Given the description of an element on the screen output the (x, y) to click on. 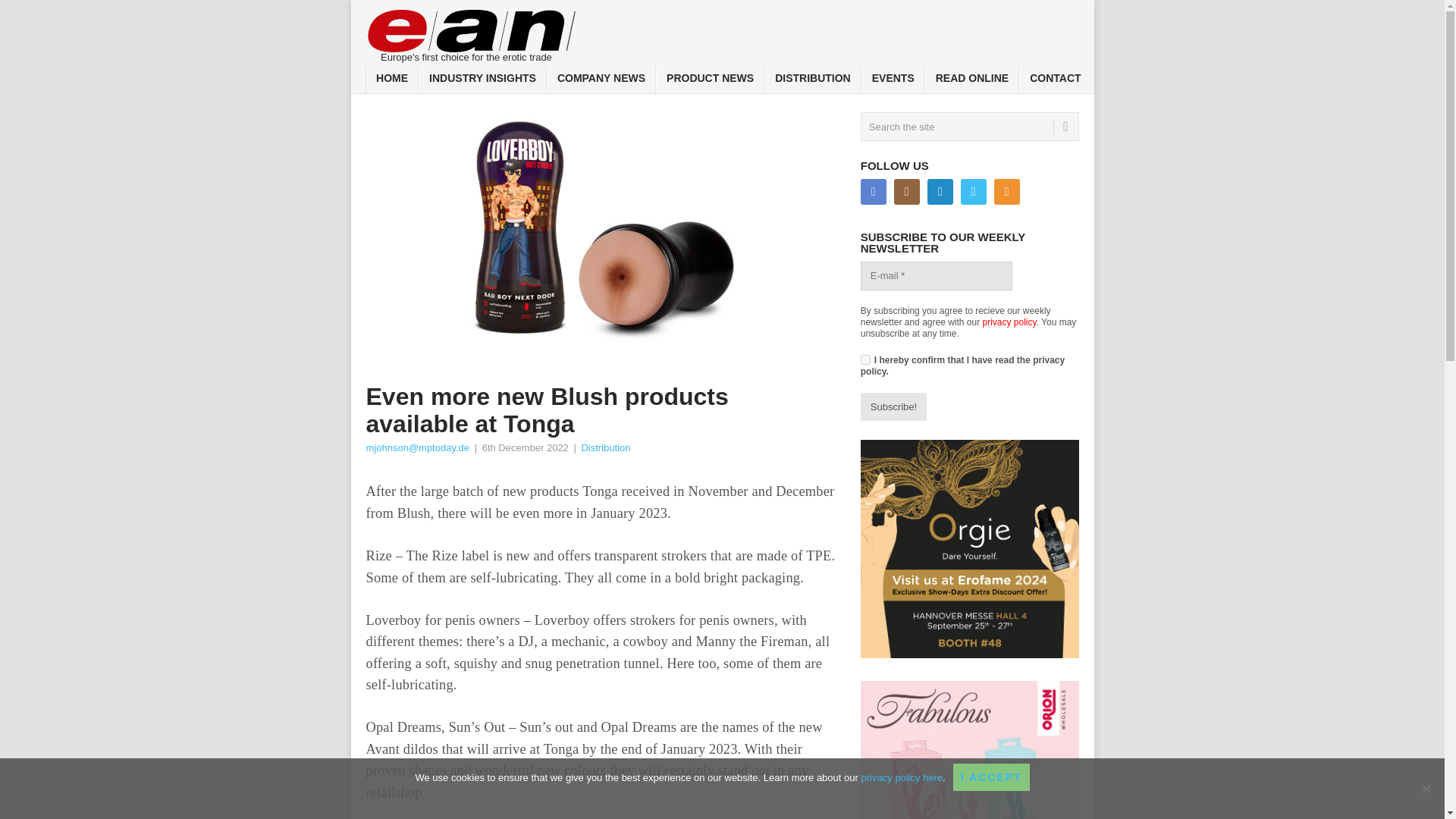
COMPANY NEWS (601, 80)
DISTRIBUTION (812, 80)
PRODUCT NEWS (710, 80)
Europe's first choice for the erotic trade (472, 32)
privacy policy (1009, 321)
READ ONLINE (971, 80)
CONTACT (1054, 80)
HOME (392, 80)
Facebook (873, 191)
Twitter (973, 191)
LinkedIn (940, 191)
Search the site (969, 126)
Distribution (605, 447)
Instagram (906, 191)
Subscribe! (893, 407)
